Given the description of an element on the screen output the (x, y) to click on. 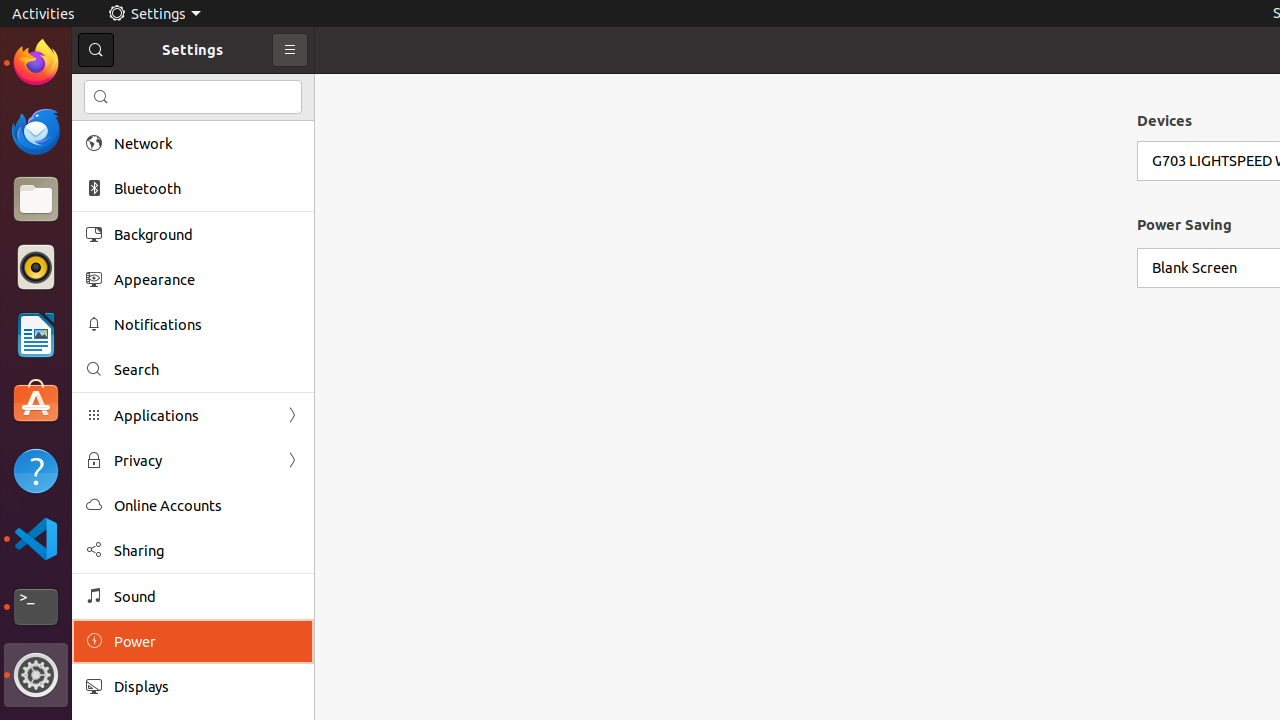
Search Element type: label (207, 369)
Forward Element type: icon (292, 460)
Online Accounts Element type: label (207, 505)
Settings Element type: menu (154, 13)
